Given the description of an element on the screen output the (x, y) to click on. 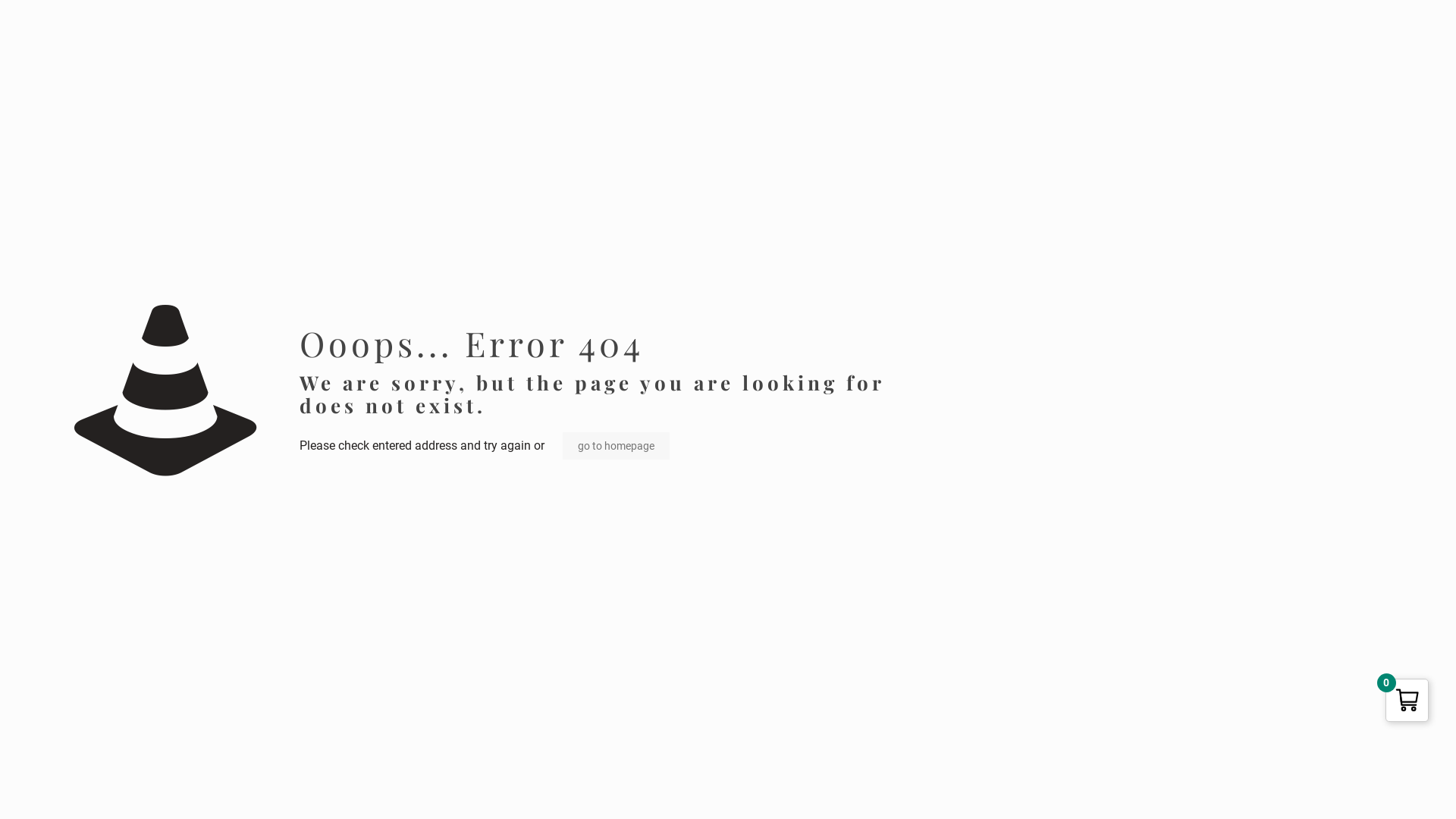
go to homepage Element type: text (615, 445)
